Given the description of an element on the screen output the (x, y) to click on. 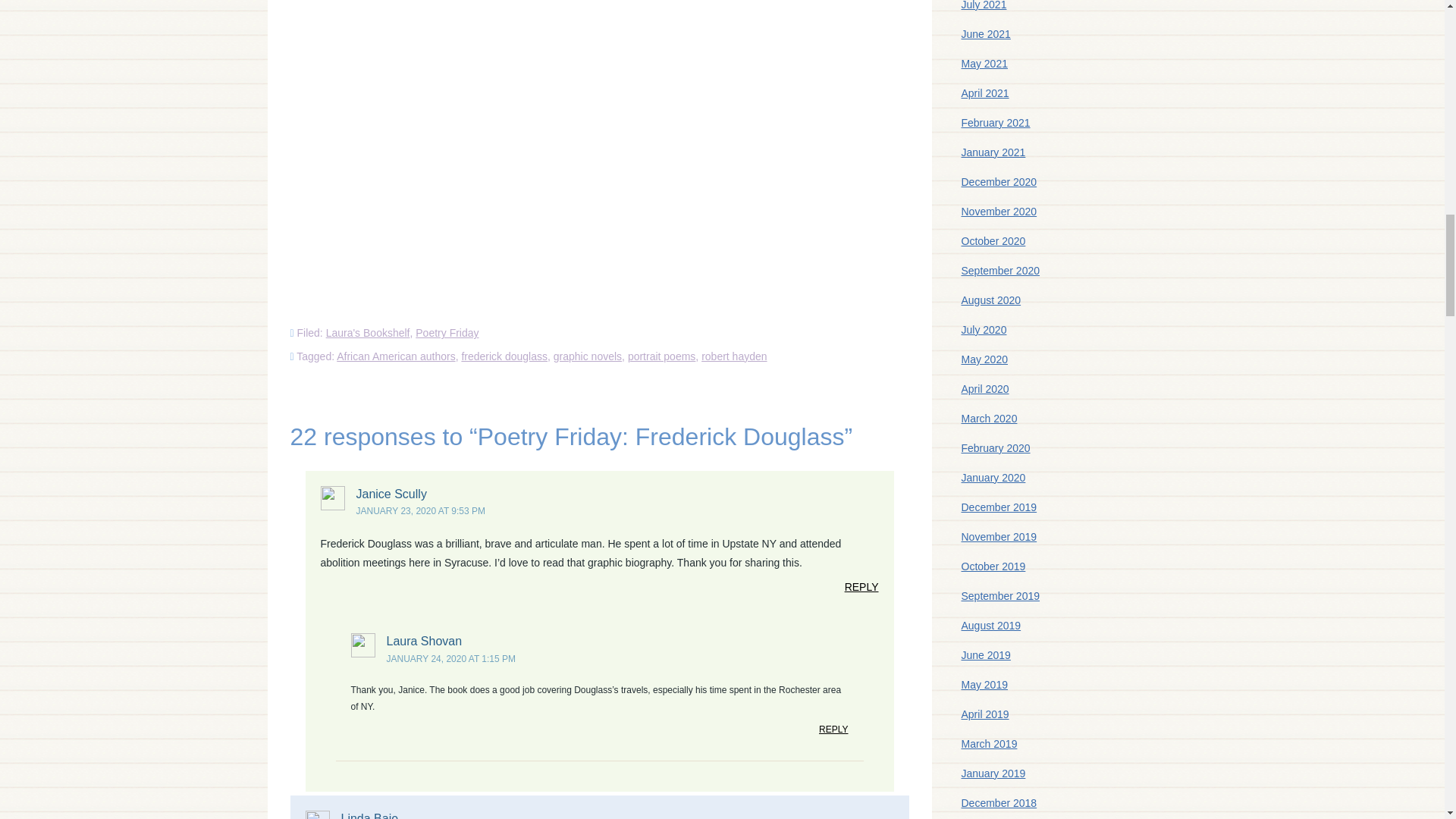
REPLY (861, 590)
frederick douglass (504, 356)
Poetry Friday (446, 332)
JANUARY 24, 2020 AT 1:15 PM (451, 658)
African American authors (395, 356)
REPLY (832, 733)
Linda Baie (369, 815)
Janice Scully (391, 493)
graphic novels (587, 356)
